Given the description of an element on the screen output the (x, y) to click on. 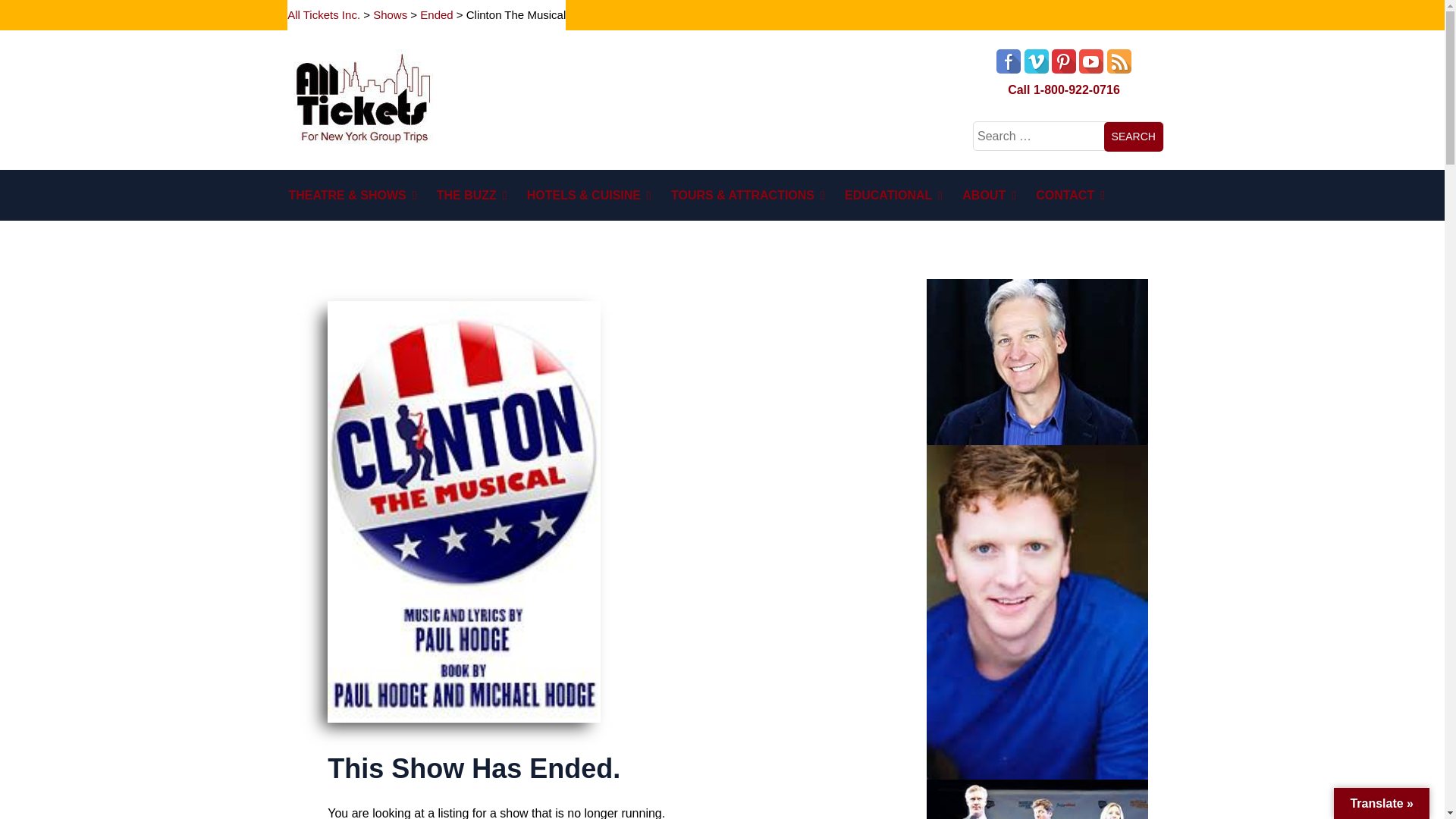
Call 1-800-922-0716 (1063, 89)
Search (1133, 136)
Shows (389, 14)
EDUCATIONAL (918, 194)
ABOUT (1013, 194)
Ended (436, 14)
All Tickets Inc. (322, 14)
Search (1133, 136)
Go to Shows. (389, 14)
Go to All Tickets Inc.. (322, 14)
Go to the Ended Category archives. (436, 14)
THE BUZZ (496, 194)
Search (1133, 136)
